Given the description of an element on the screen output the (x, y) to click on. 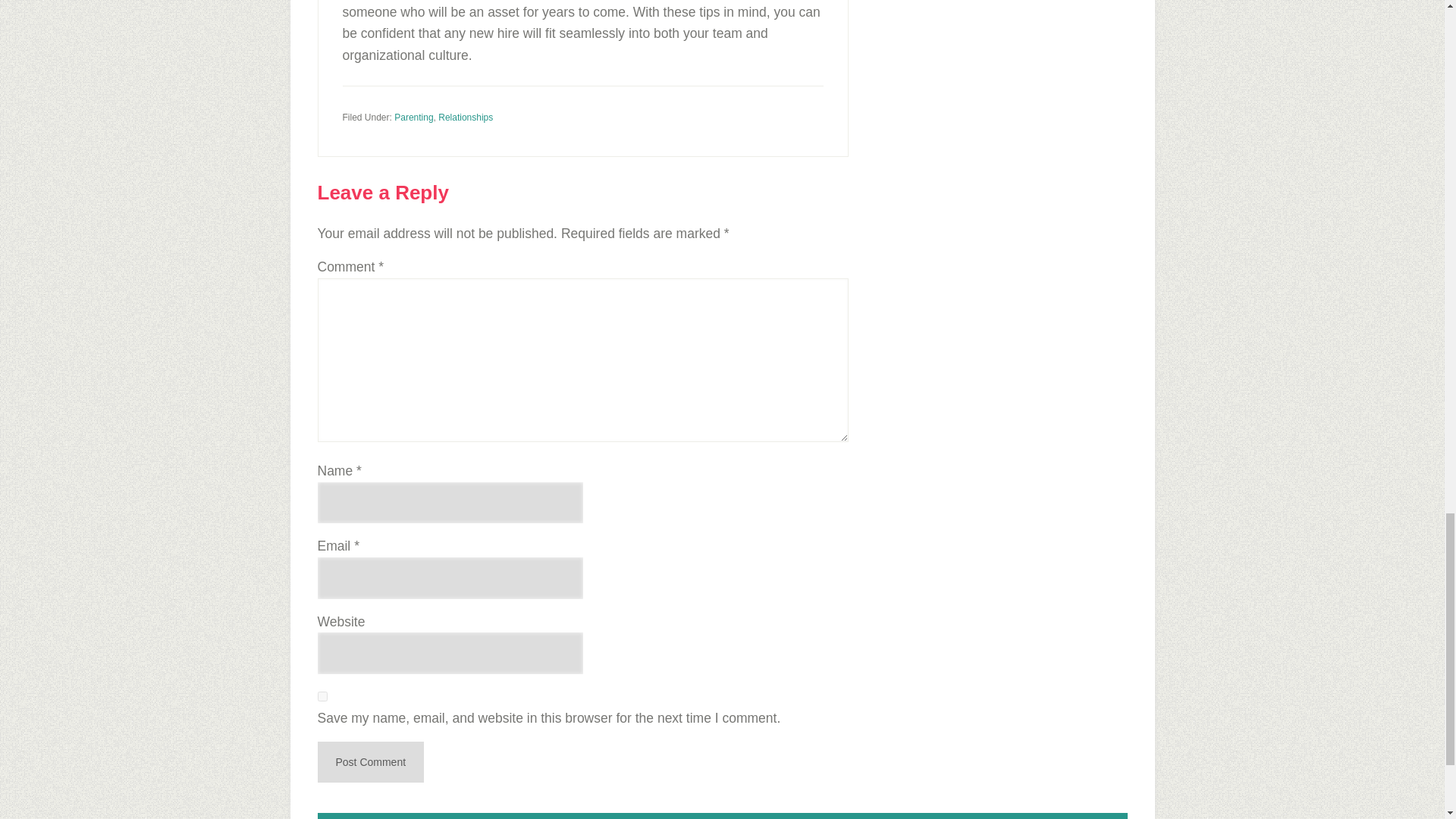
Parenting (413, 117)
Post Comment (370, 762)
Post Comment (370, 762)
yes (321, 696)
Relationships (465, 117)
